Given the description of an element on the screen output the (x, y) to click on. 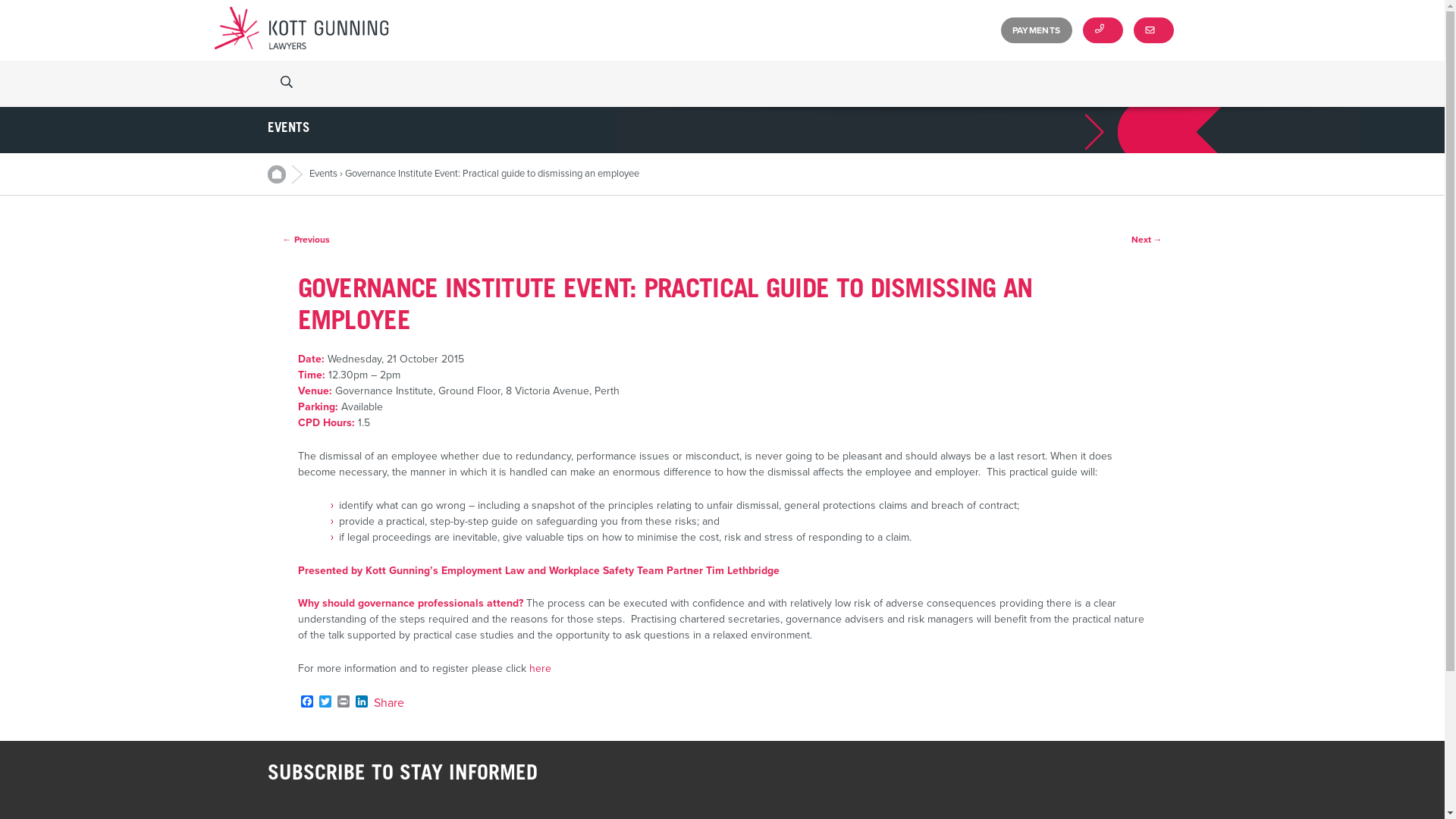
Kott Gunning Lawyers Element type: hover (300, 29)
Facebook Element type: text (306, 702)
Events Element type: text (323, 173)
LinkedIn Element type: text (360, 702)
PAYMENTS Element type: text (1036, 30)
Print Element type: text (342, 702)
Share Element type: text (388, 702)
Home Element type: text (283, 174)
Tim Lethbridge Element type: text (741, 570)
here Element type: text (540, 668)
Twitter Element type: text (324, 702)
